Given the description of an element on the screen output the (x, y) to click on. 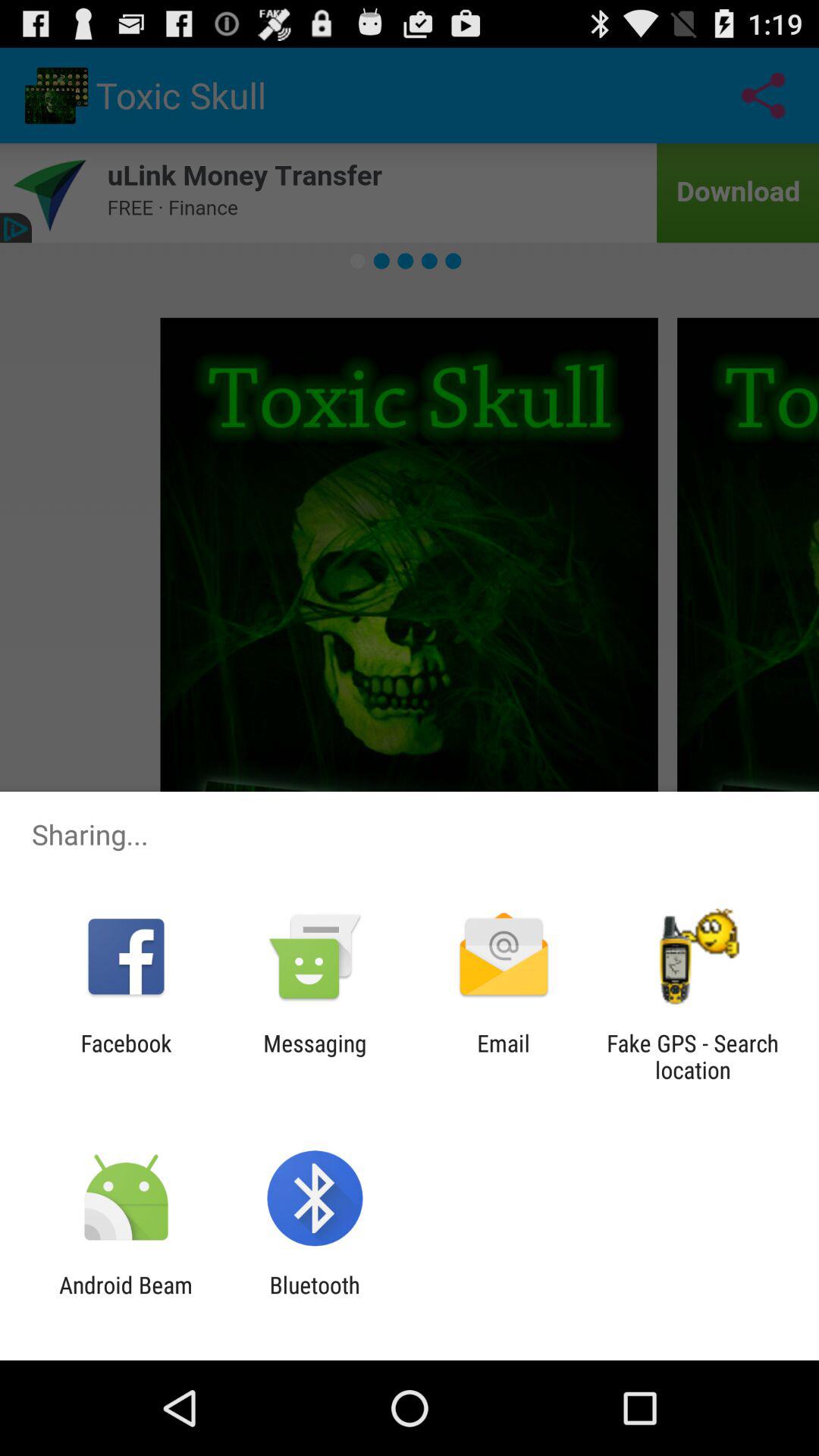
tap the item next to email item (692, 1056)
